Given the description of an element on the screen output the (x, y) to click on. 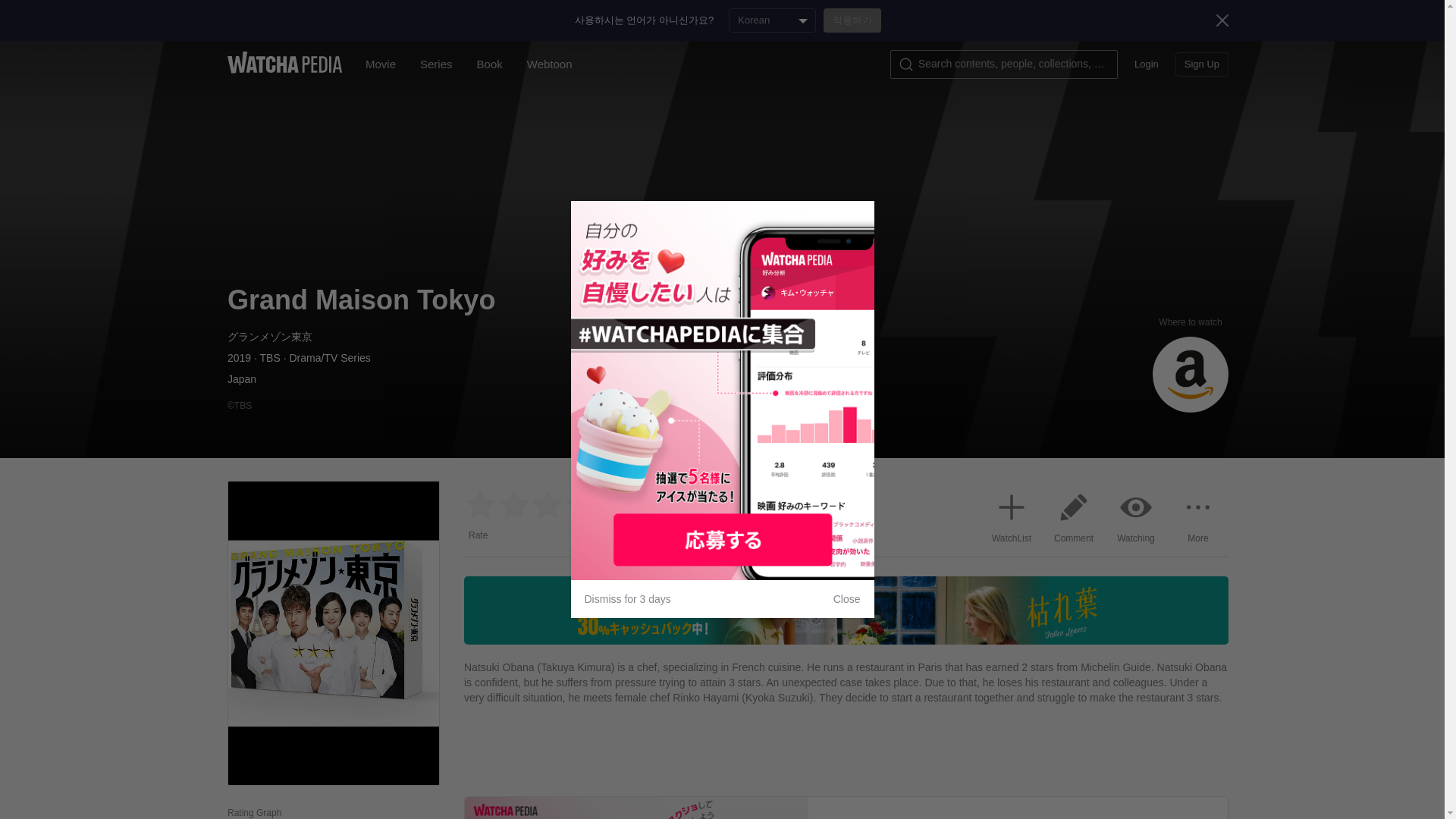
Book (489, 64)
Webtoon (550, 64)
Movie (380, 64)
Sign Up (1201, 64)
Login (1146, 64)
Series (435, 64)
More (1197, 514)
Korean (772, 20)
